Given the description of an element on the screen output the (x, y) to click on. 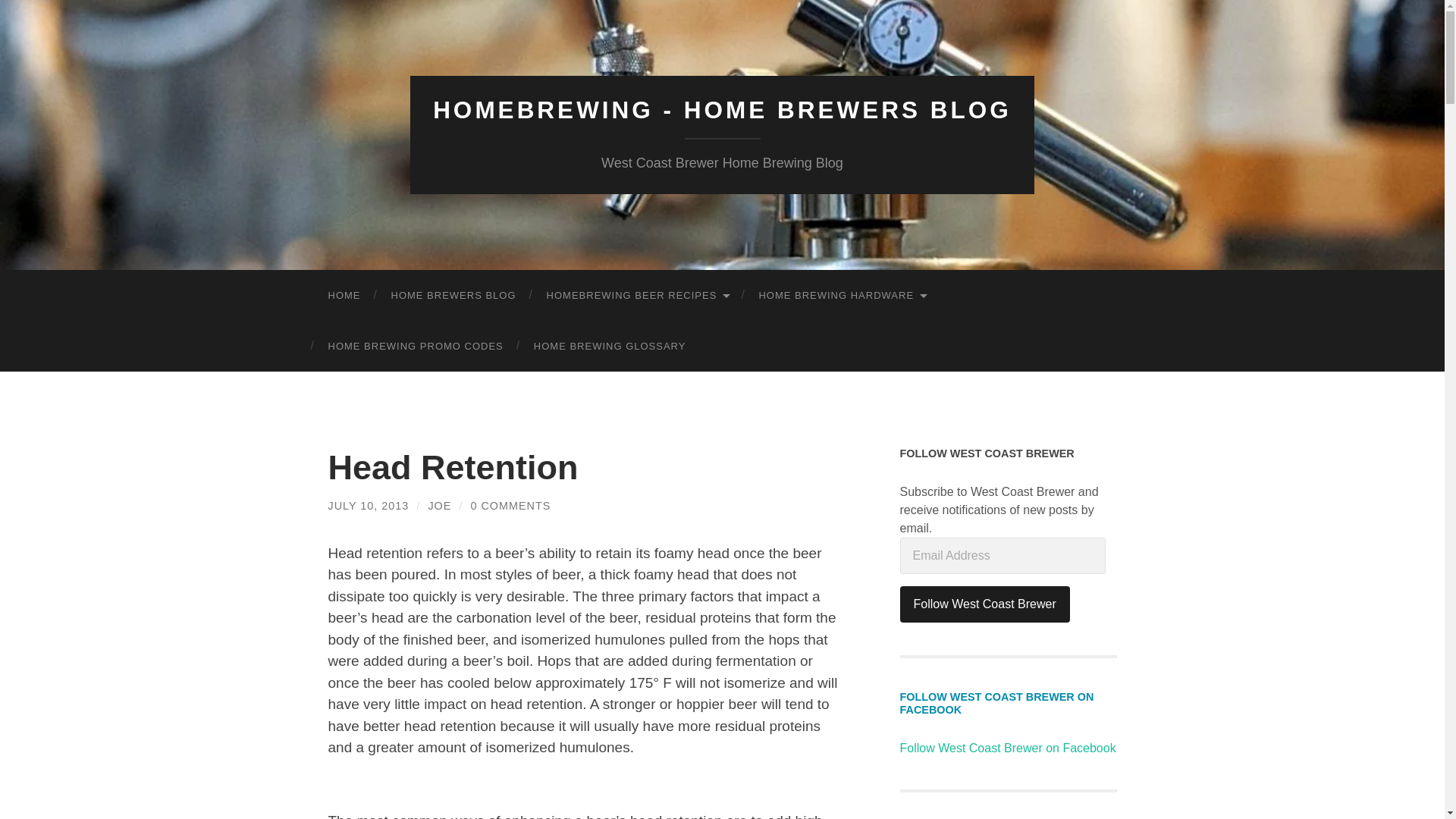
HOMEBREWING BEER RECIPES (637, 295)
HOME BREWERS BLOG (453, 295)
HOME BREWING PROMO CODES (415, 346)
Posts by Joe (439, 505)
HOME BREWING HARDWARE (841, 295)
HOMEBREWING - HOME BREWERS BLOG (721, 109)
HOME (344, 295)
HOME BREWING GLOSSARY (609, 346)
